Given the description of an element on the screen output the (x, y) to click on. 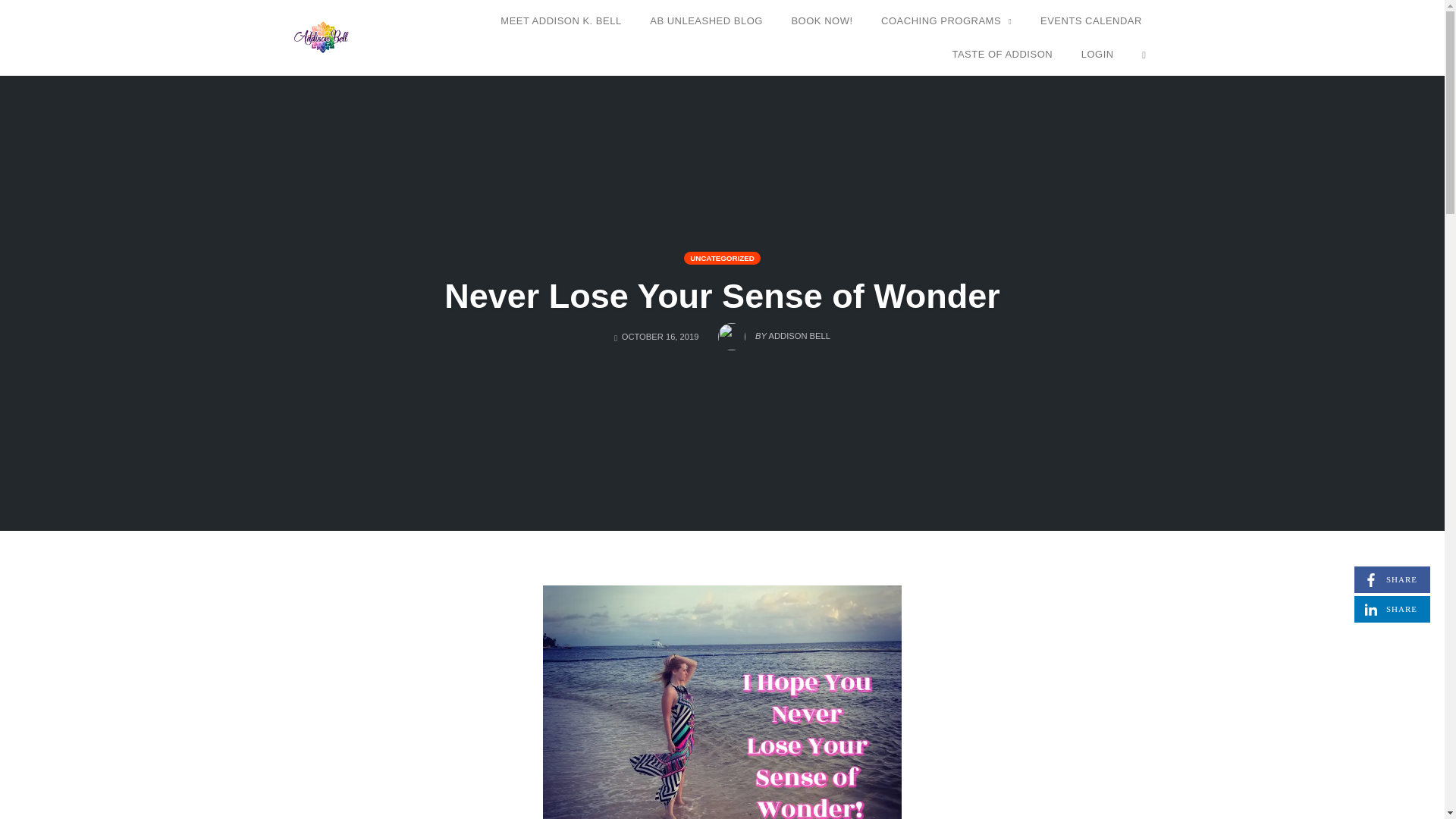
OPEN SEARCH FORM (1144, 54)
UNCATEGORIZED (722, 257)
BY ADDISON BELL (1391, 609)
COACHING PROGRAMS (773, 331)
AB UNLEASHED BLOG (946, 20)
Addison Bell Coaching (706, 20)
BOOK NOW! (322, 37)
Never Lose Your Sense of Wonder (821, 20)
